Given the description of an element on the screen output the (x, y) to click on. 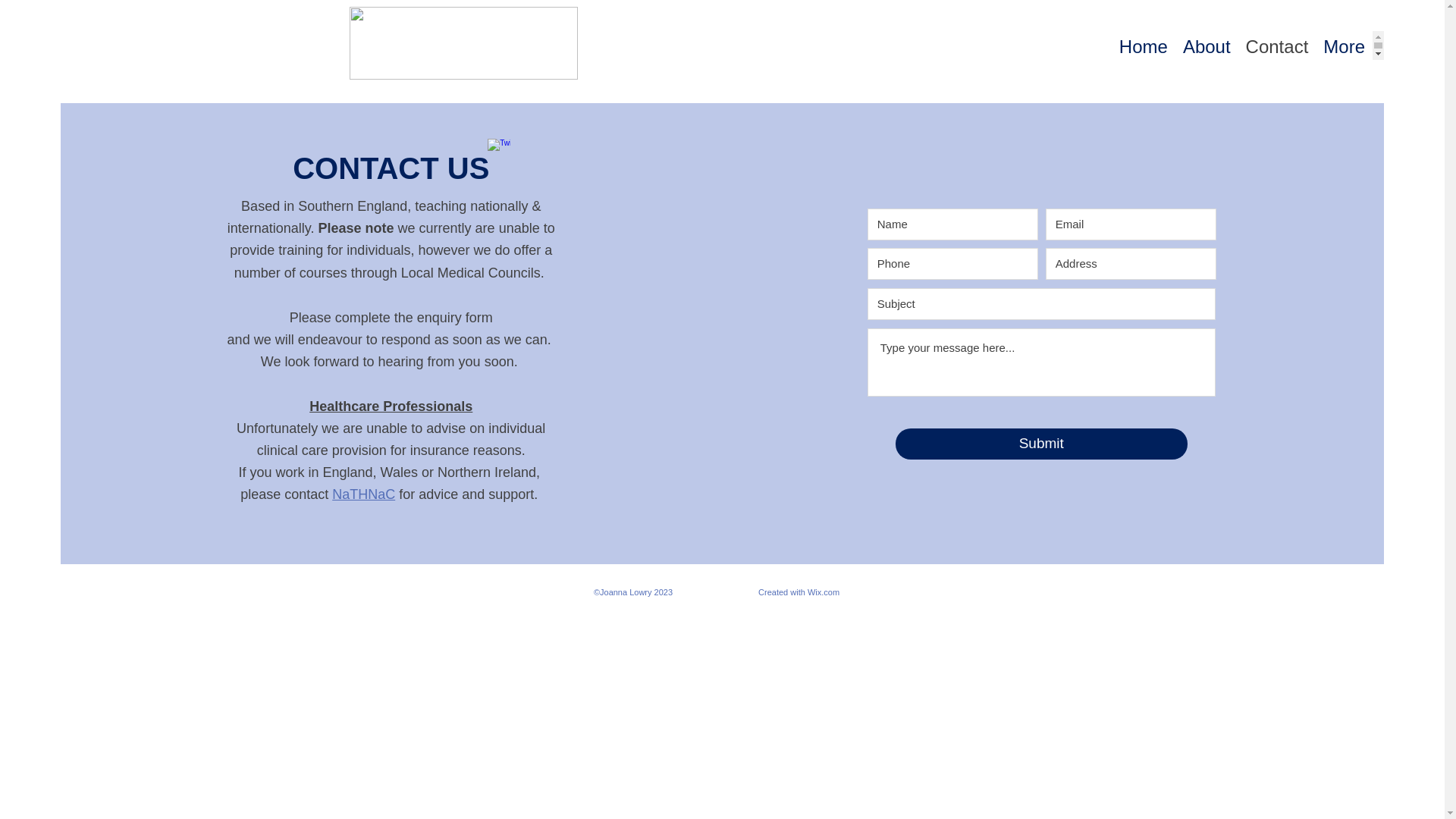
Contact (1277, 45)
About (1206, 45)
Home (1143, 45)
for advice and support.  (469, 494)
Submit (1041, 443)
NaTHNaC (362, 494)
